Given the description of an element on the screen output the (x, y) to click on. 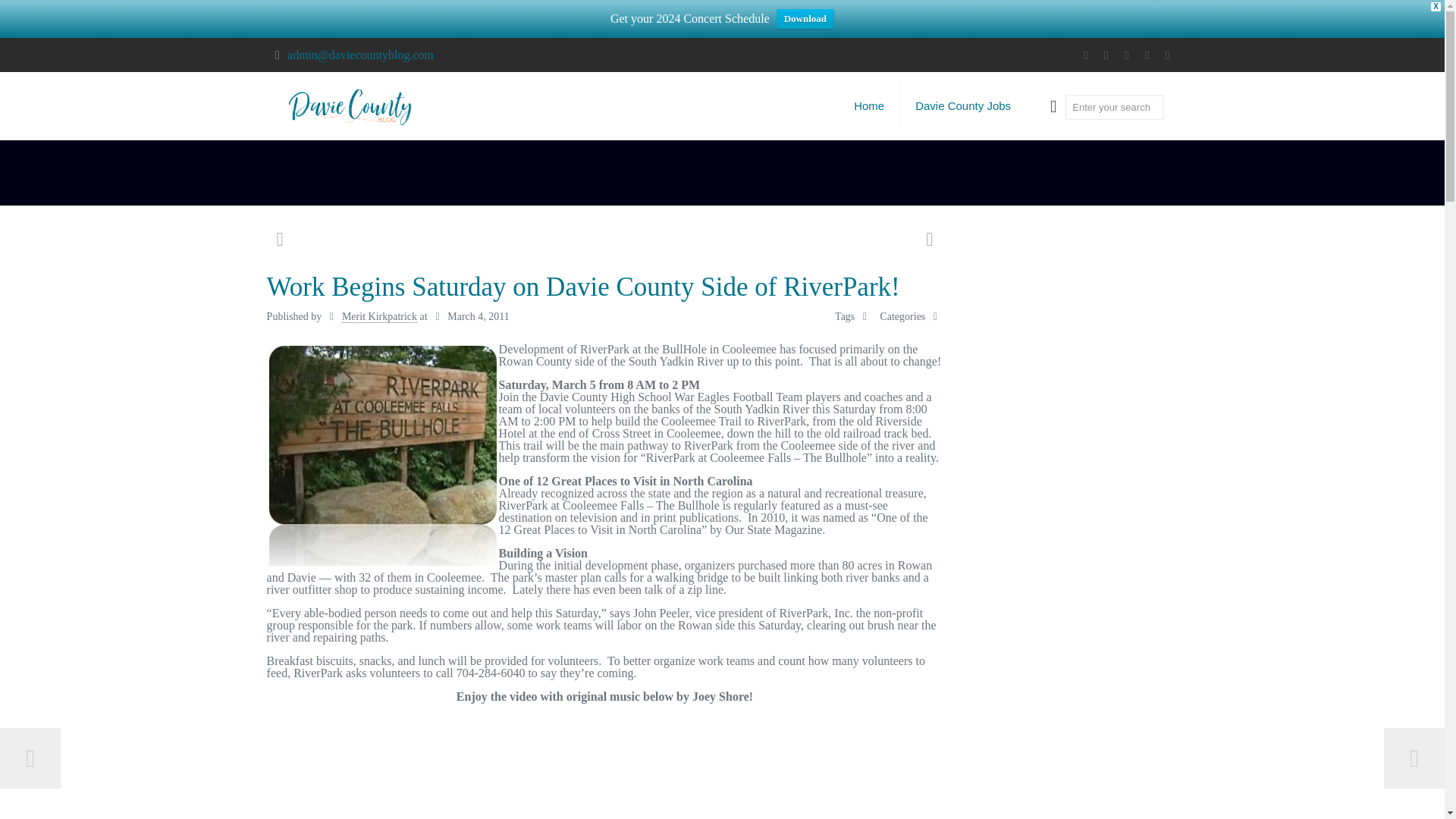
Twitter (1105, 55)
Top Stories (592, 175)
Davie County Blog (351, 106)
Flickr (1126, 55)
Home (868, 106)
RSS (1146, 55)
Facebook (1085, 55)
Home (514, 175)
Download (805, 18)
The Bullhole Sign (382, 455)
Davie County Jobs (962, 106)
Merit Kirkpatrick (379, 316)
